Given the description of an element on the screen output the (x, y) to click on. 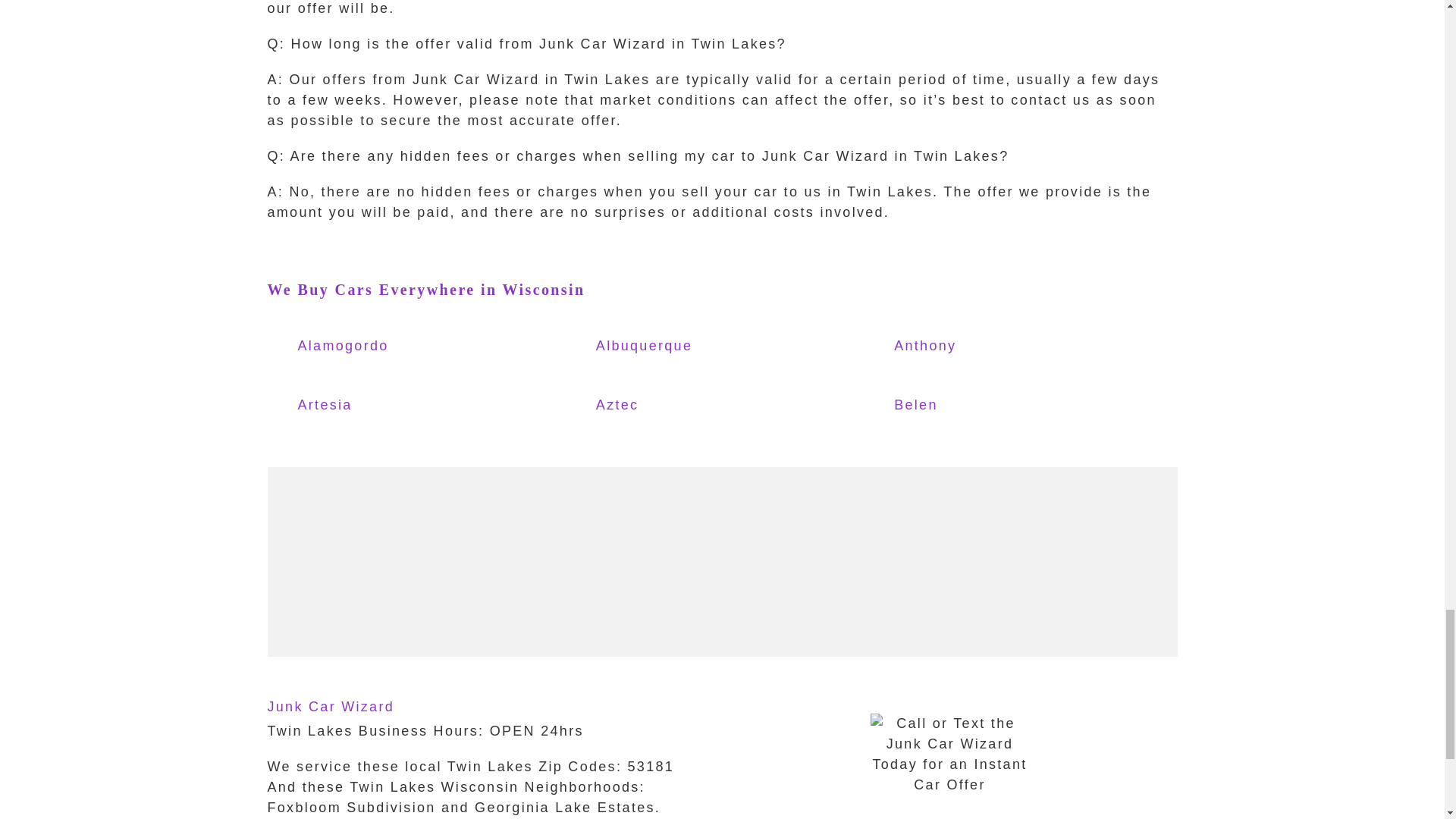
Belen (960, 405)
We Buy Cars Everywhere in Wisconsin (425, 289)
We Buy Junk Cars in Artesia, NM (363, 405)
Junk Car Wizard (330, 706)
Alamogordo (363, 346)
Anthony (960, 346)
We Buy Junk Cars in Albuquerque, NM (662, 346)
Albuquerque (662, 346)
We Buy Junk Cars in Alamogordo, NM (363, 346)
Artesia (363, 405)
Aztec (662, 405)
We Buy Junk Cars in Aztec, NM (662, 405)
We Buy Junk Cars in Belen, NM (960, 405)
We Buy Junk Cars in Anthony, NM (960, 346)
